Given the description of an element on the screen output the (x, y) to click on. 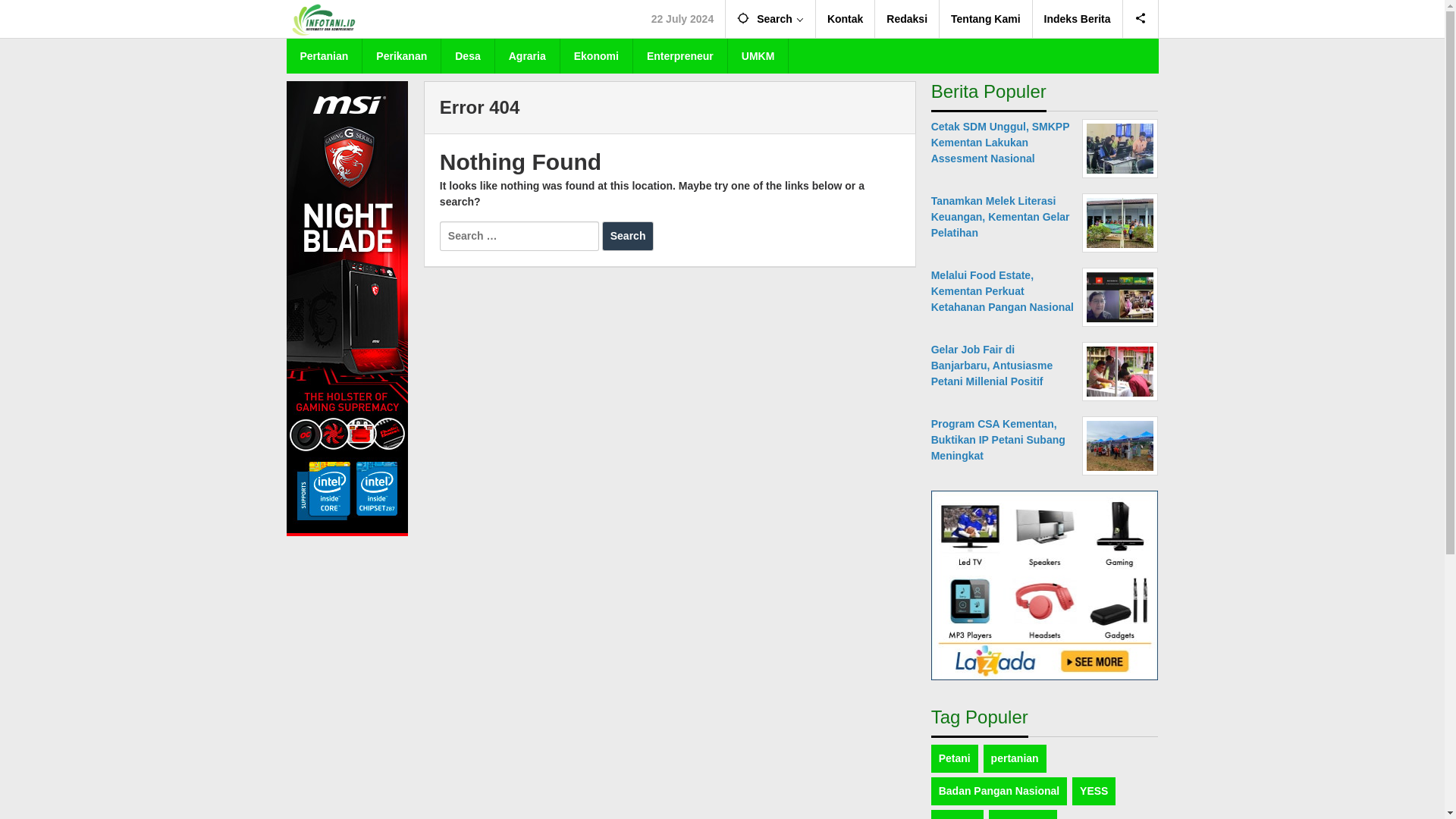
Search (770, 18)
Kontak (845, 18)
UMKM (758, 55)
Cetak SDM Unggul, SMKPP Kementan Lakukan Assesment Nasional (1000, 142)
BPPSDMP (1022, 814)
Search (770, 18)
Search (627, 235)
85275091-096B-4292-845D-B9A7699871C3 (1119, 148)
Indeks Berita (1077, 18)
Tanamkan Melek Literasi Keuangan, Kementan Gelar Pelatihan (1000, 216)
Info Tani (324, 19)
Tentang Kami (985, 18)
